Given the description of an element on the screen output the (x, y) to click on. 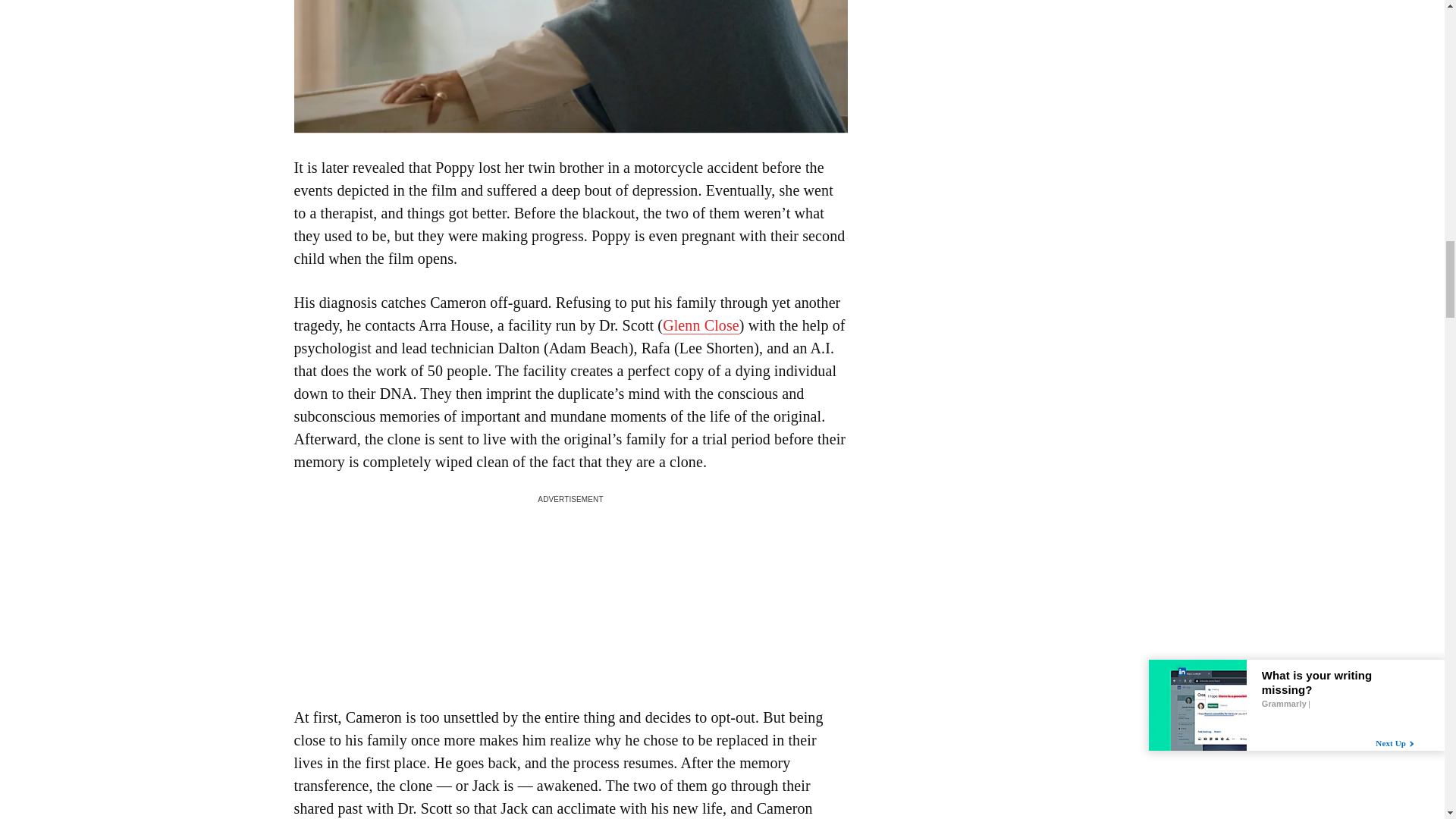
Glenn Close (700, 325)
